Given the description of an element on the screen output the (x, y) to click on. 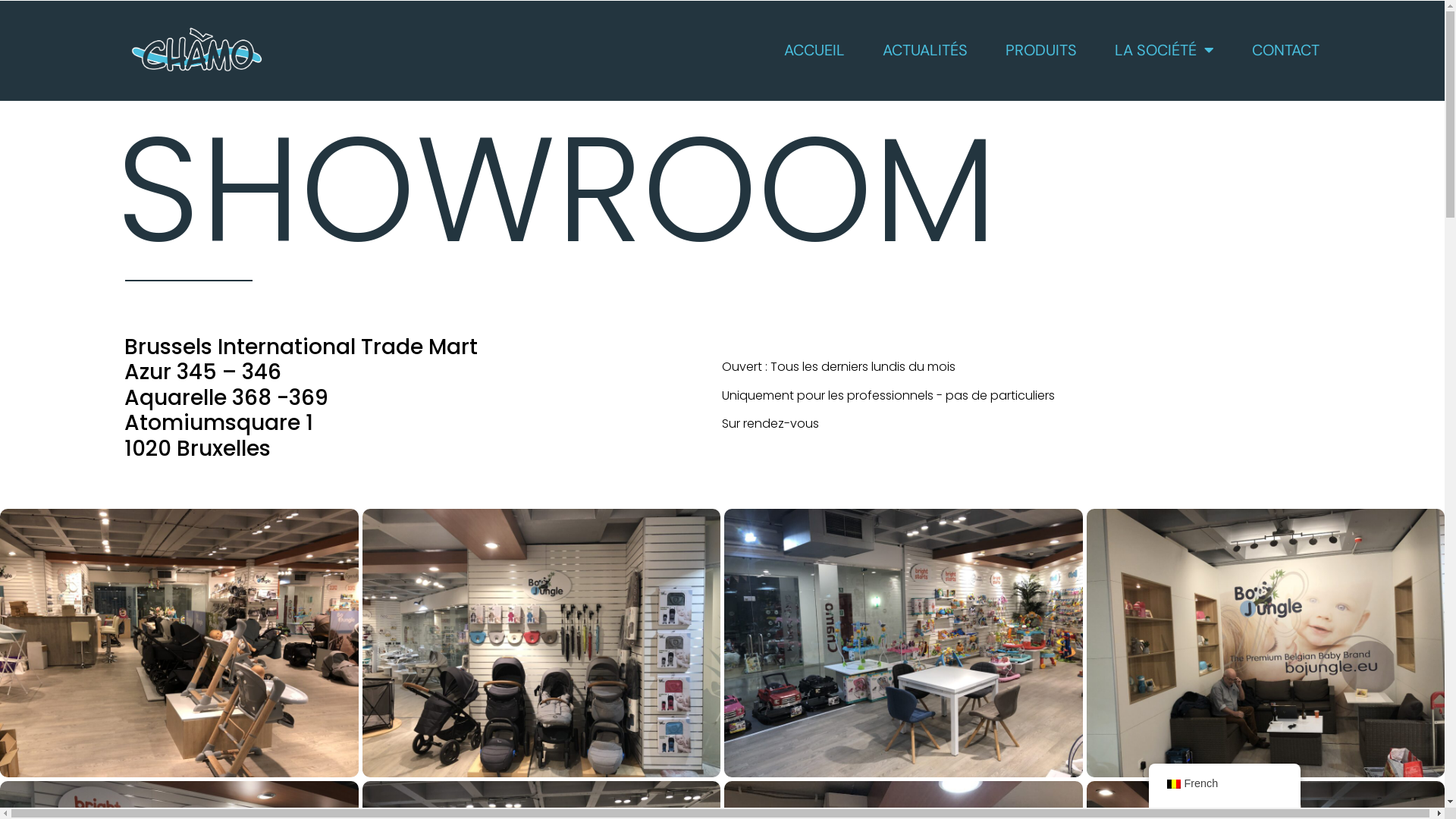
CONTACT Element type: text (1285, 49)
French Element type: text (1223, 784)
ACCUEIL Element type: text (814, 49)
PRODUITS Element type: text (1040, 49)
French Element type: text (1223, 785)
French Element type: hover (1172, 783)
